Given the description of an element on the screen output the (x, y) to click on. 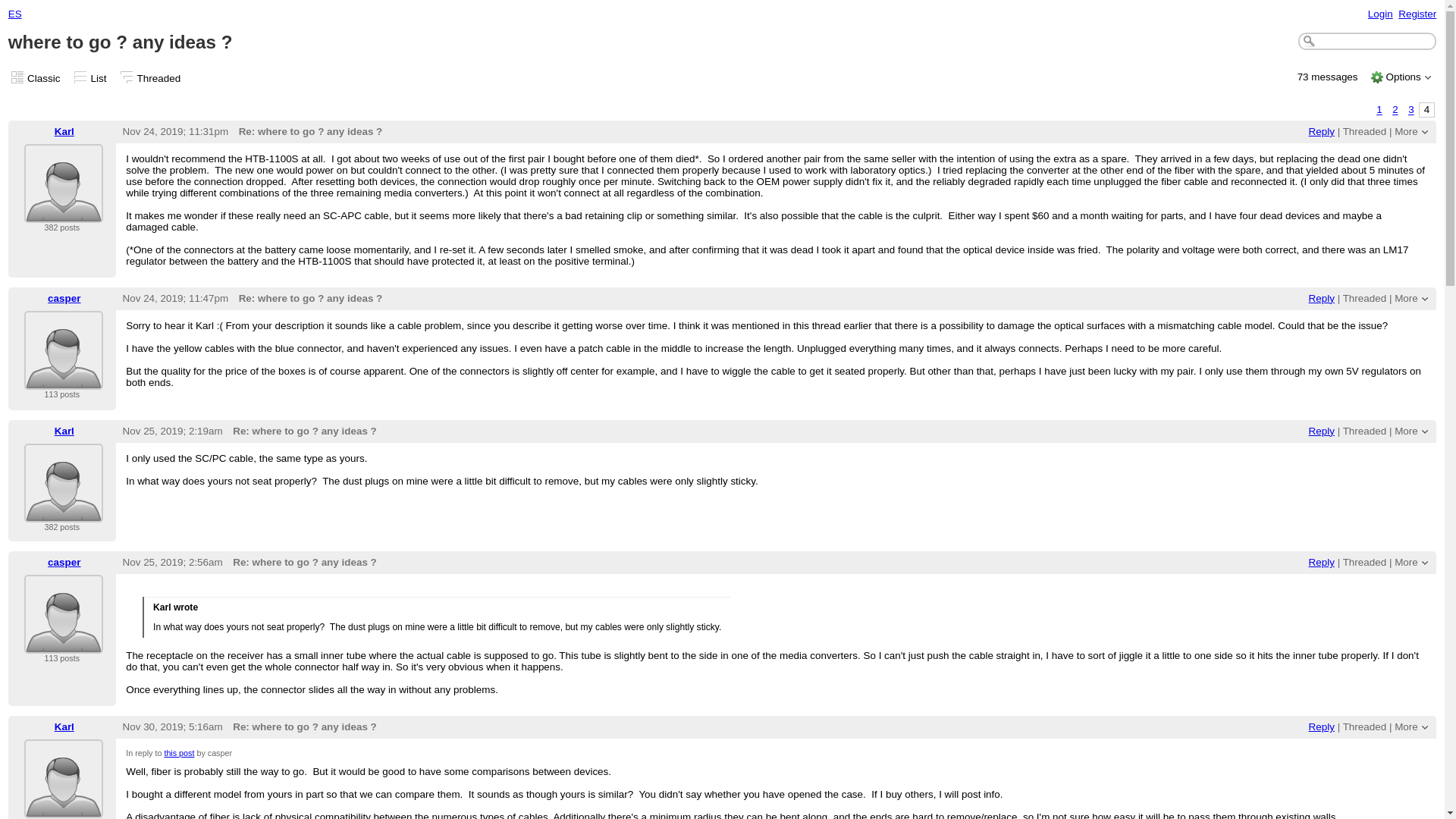
ES (14, 13)
Threaded (158, 78)
Click for more options (1403, 76)
Page 1 (1379, 110)
Threaded (1364, 131)
Page 3 (1411, 110)
Click for more options (1406, 297)
Page 2 (1395, 110)
Reply (1321, 131)
Karl (63, 482)
